Given the description of an element on the screen output the (x, y) to click on. 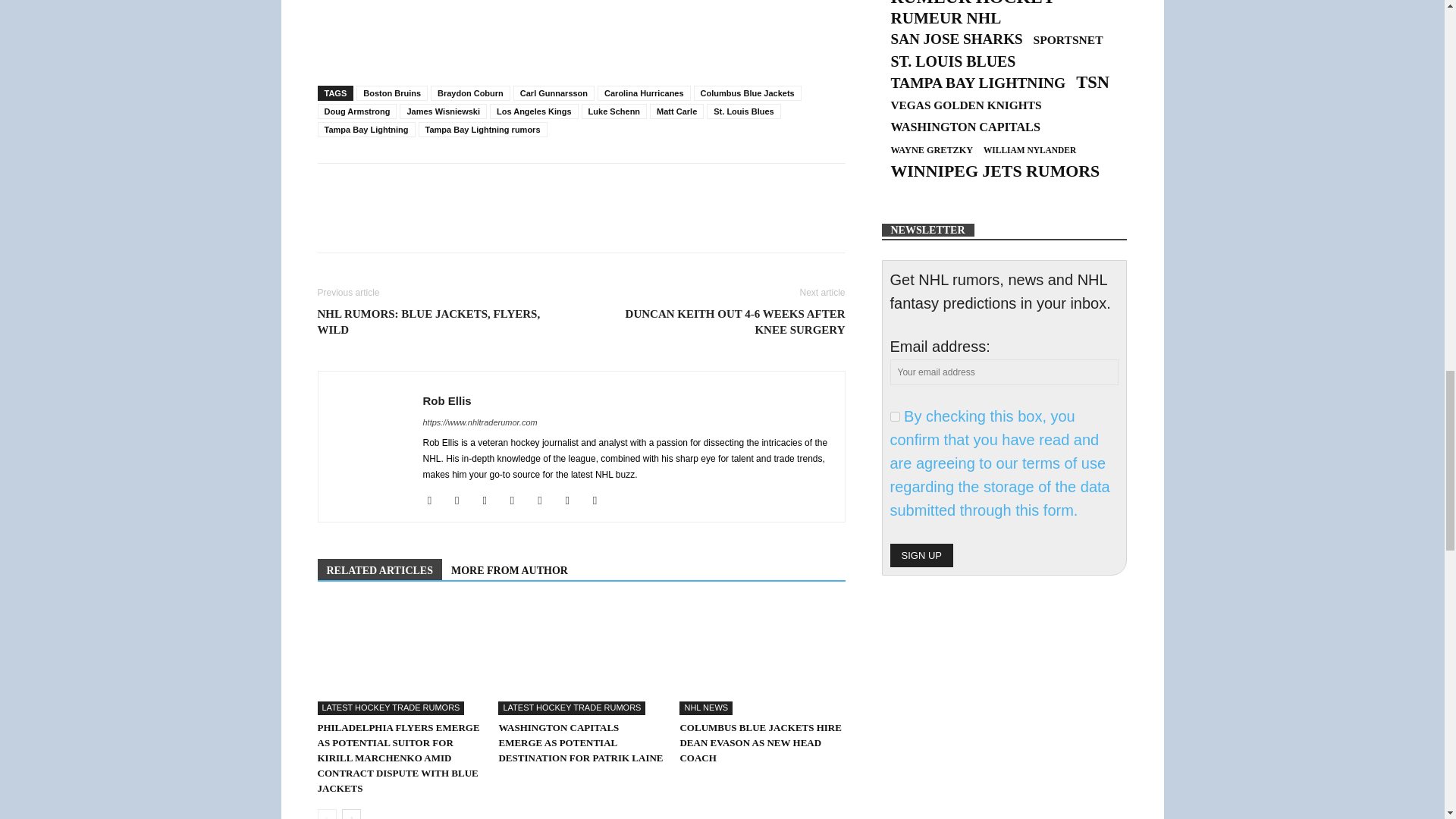
1 (894, 416)
Sign up (921, 555)
